Given the description of an element on the screen output the (x, y) to click on. 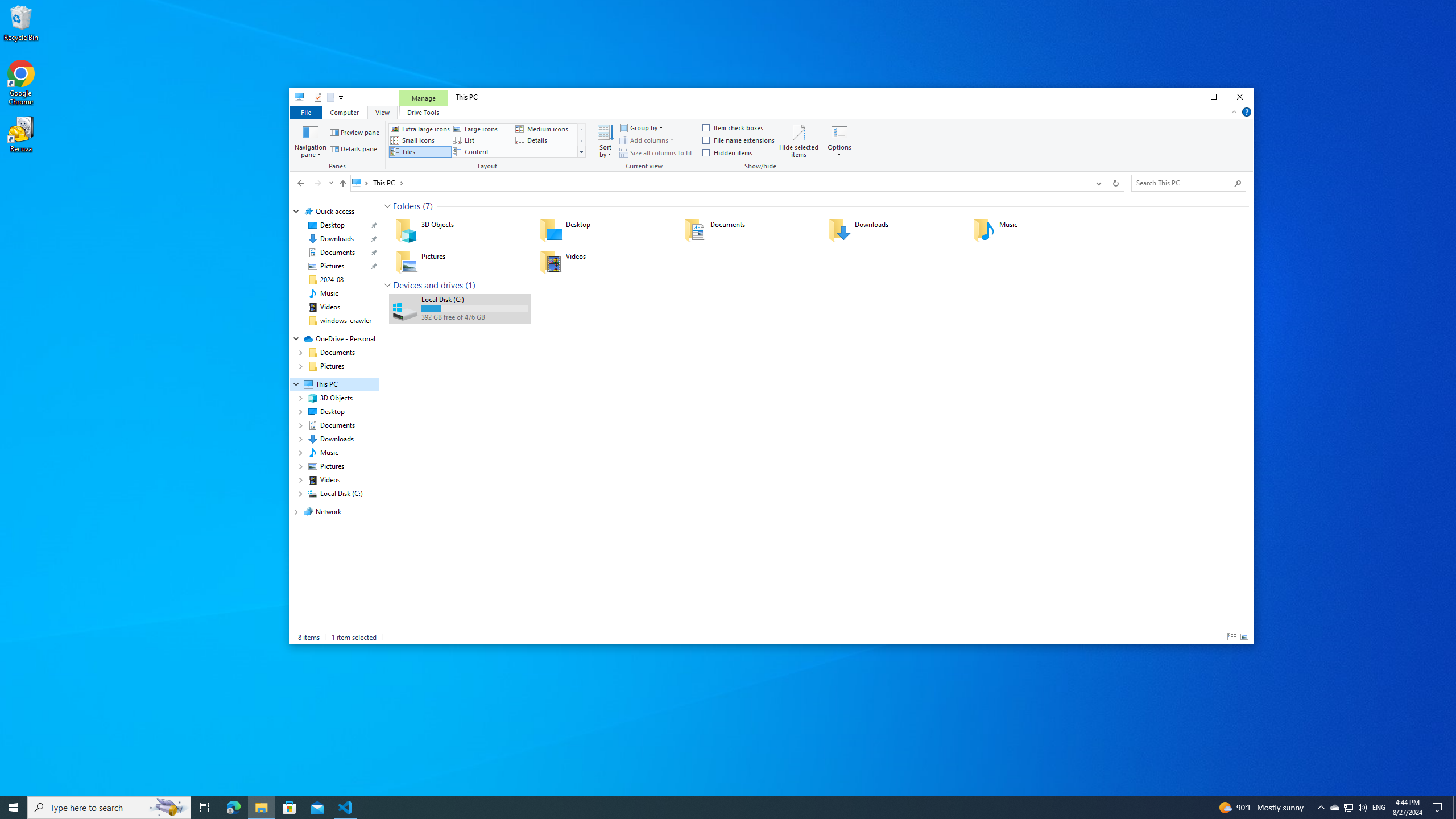
Panes (338, 145)
Videos (603, 261)
File name extensions (738, 140)
Details (1231, 636)
Running applications (706, 807)
Search Box (1182, 182)
Up band toolbar (342, 184)
Manage (423, 97)
Music (328, 293)
Show/hide (761, 145)
Item check boxes (733, 128)
Content (482, 151)
Local Disk (C:) (459, 308)
